Given the description of an element on the screen output the (x, y) to click on. 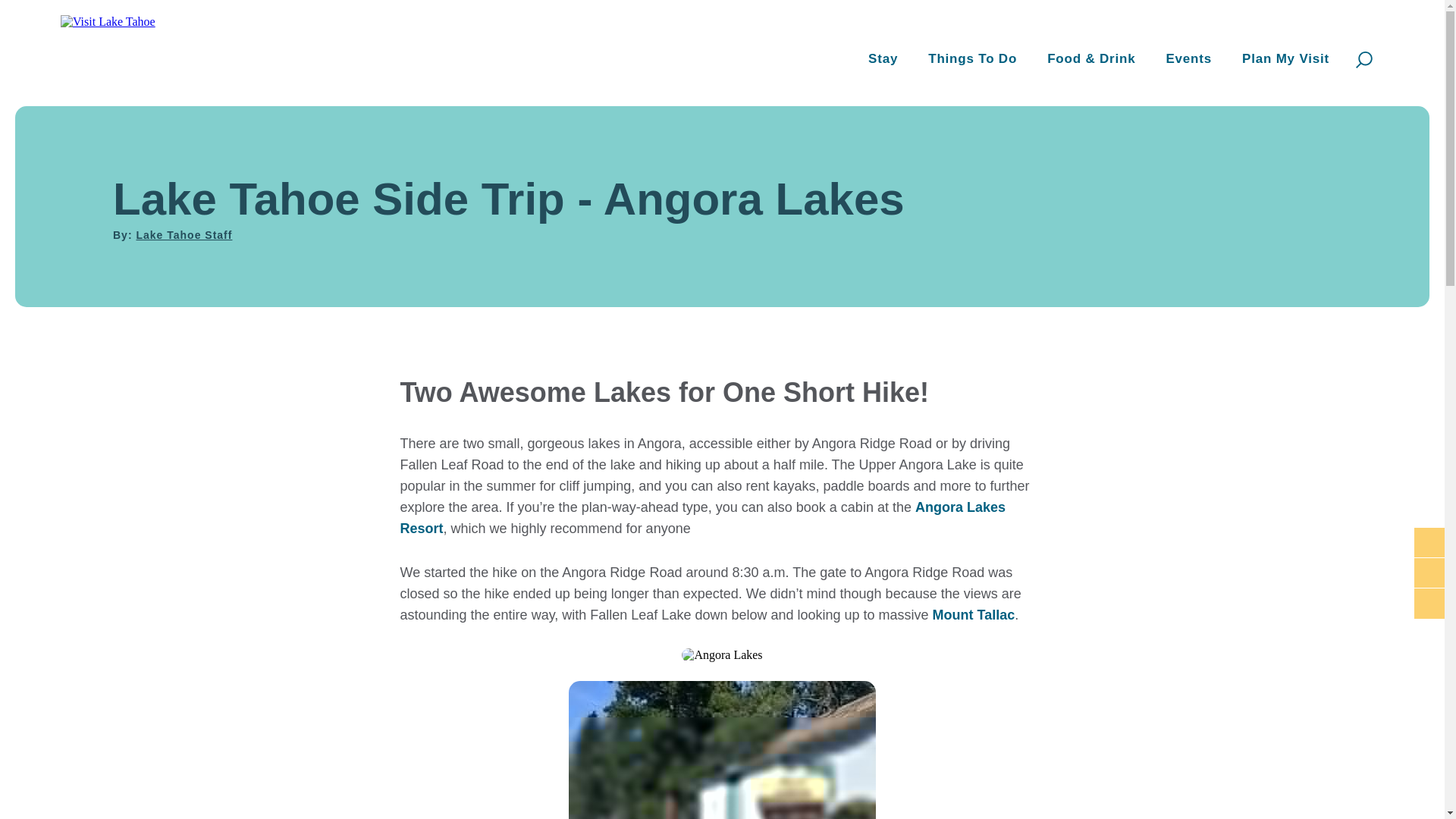
Things To Do (972, 60)
Mount Tallac (973, 614)
Visit Lake Tahoe (111, 4)
